Given the description of an element on the screen output the (x, y) to click on. 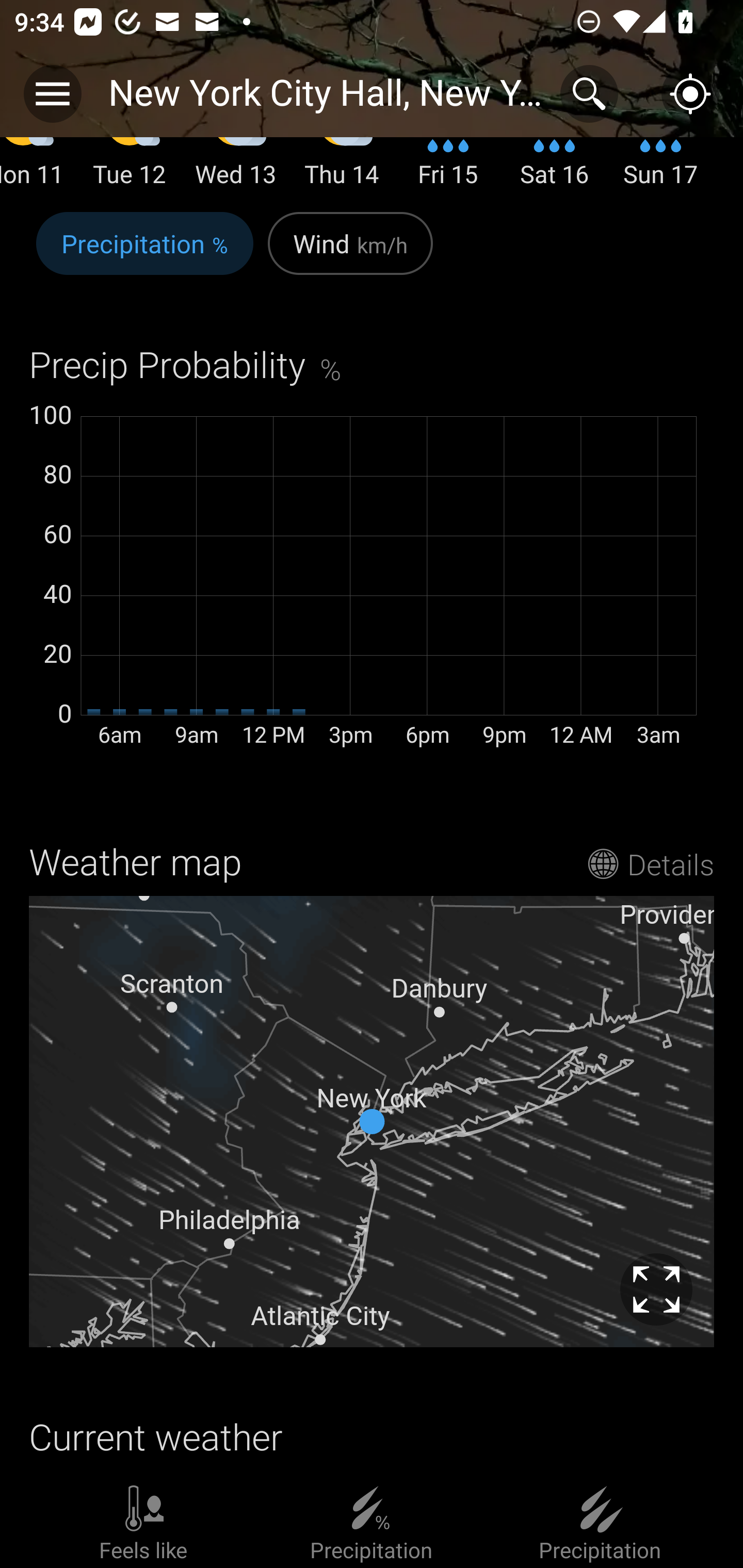
Precipitation % (144, 254)
Wind km/h (349, 254)
